Given the description of an element on the screen output the (x, y) to click on. 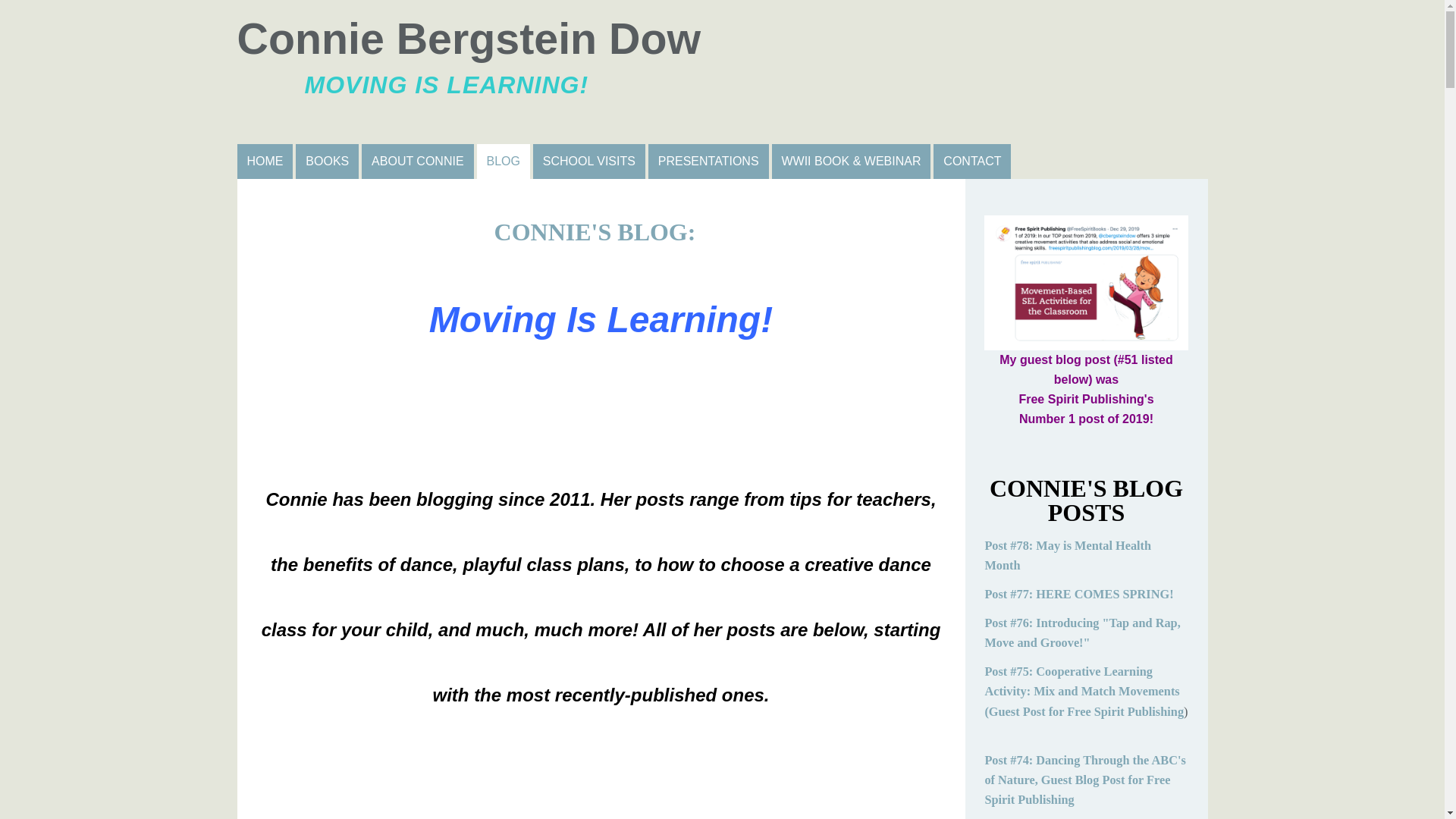
SCHOOL VISITS (588, 161)
PRESENTATIONS (707, 161)
CONTACT (971, 161)
HOME (263, 161)
BLOG (503, 161)
ABOUT CONNIE (417, 161)
BOOKS (721, 71)
